Given the description of an element on the screen output the (x, y) to click on. 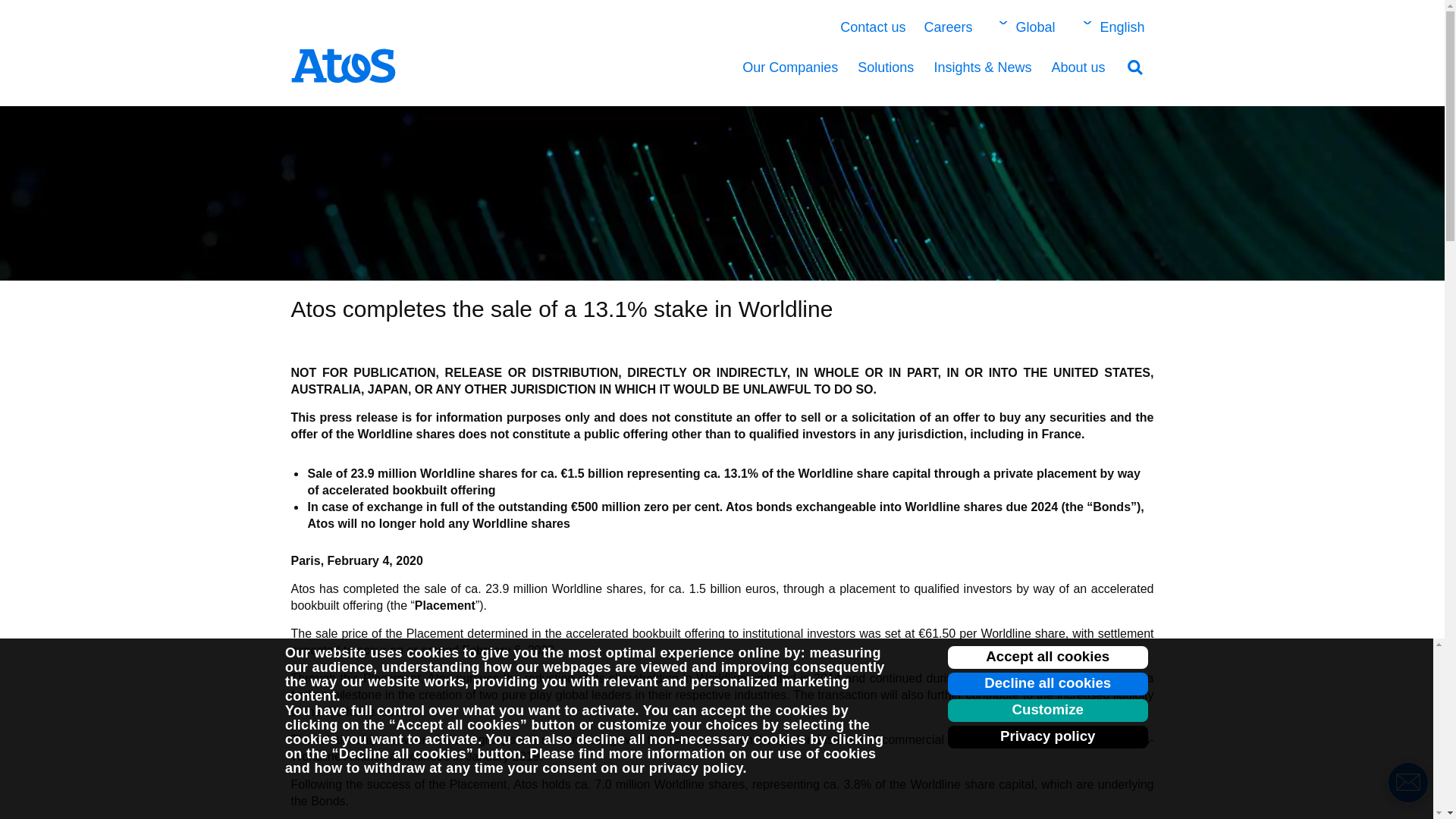
Privacy policy (1047, 736)
cookies (433, 652)
Contact us (872, 27)
Customize (1047, 710)
Global (1023, 27)
privacy policy (695, 767)
Decline all cookies (1047, 683)
Accept all cookies (1047, 657)
Careers (947, 27)
